Given the description of an element on the screen output the (x, y) to click on. 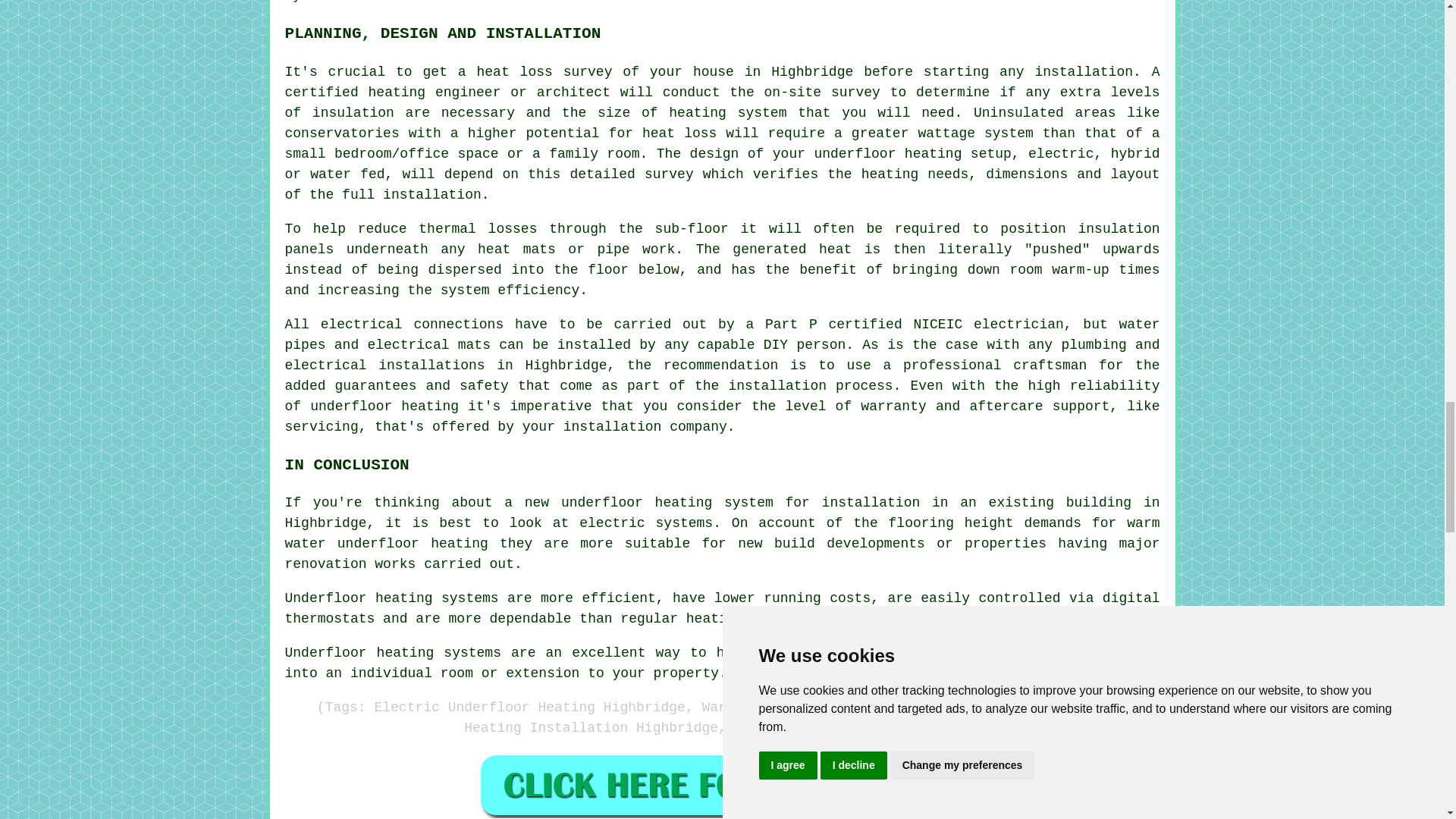
Book Underfloor Heating in Highbridge UK (722, 785)
